Given the description of an element on the screen output the (x, y) to click on. 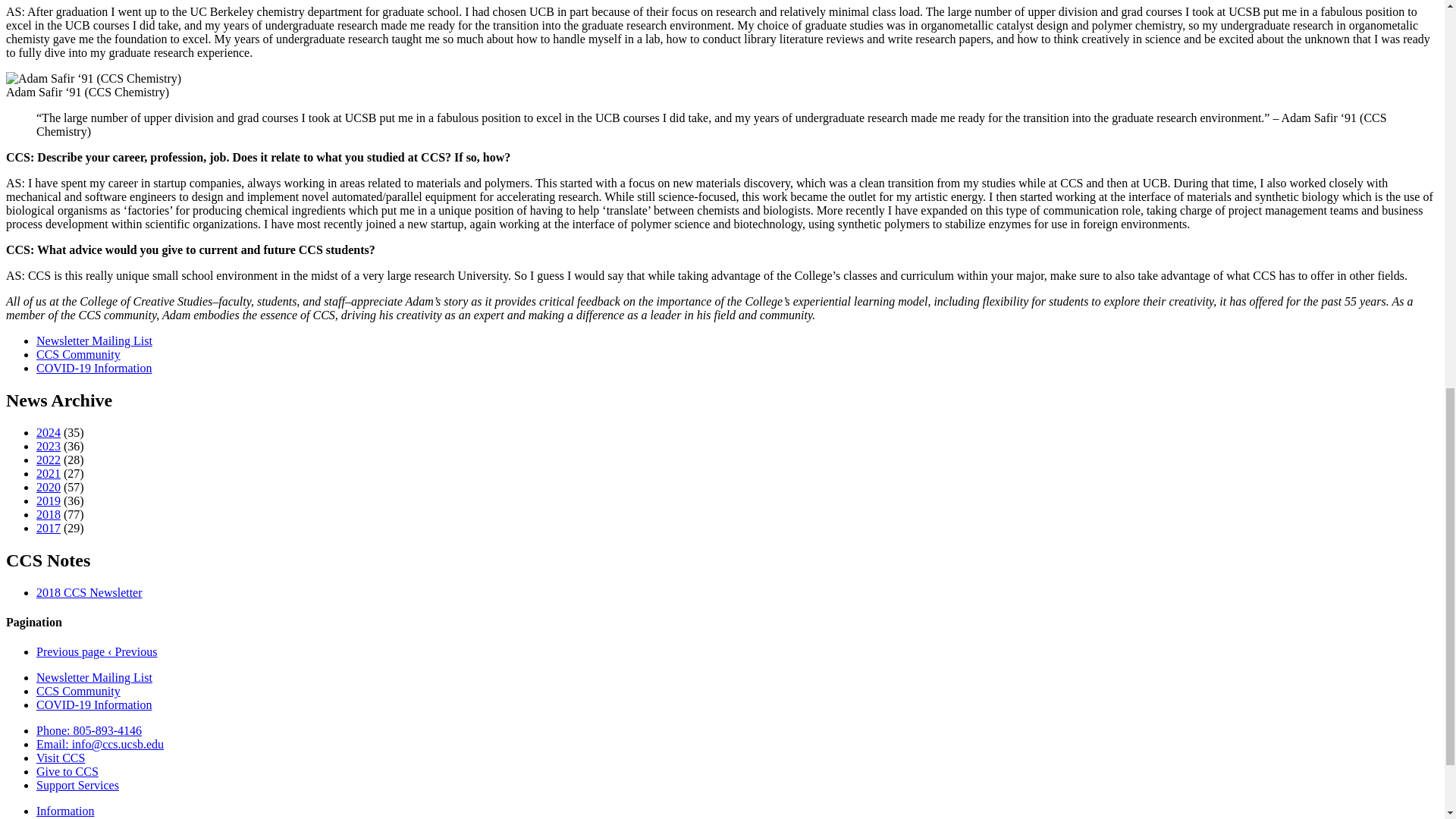
CCS Community (78, 354)
2023 (48, 445)
CCS Community (78, 690)
COVID-19 Information (93, 367)
2018 CCS Newsletter (89, 592)
2019 (48, 500)
2024 (48, 431)
2018 (48, 513)
2020 (48, 486)
Newsletter Mailing List (94, 340)
2022 (48, 459)
2017 (48, 527)
Go to previous page (96, 651)
2021 (48, 472)
Newsletter Mailing List (94, 676)
